Given the description of an element on the screen output the (x, y) to click on. 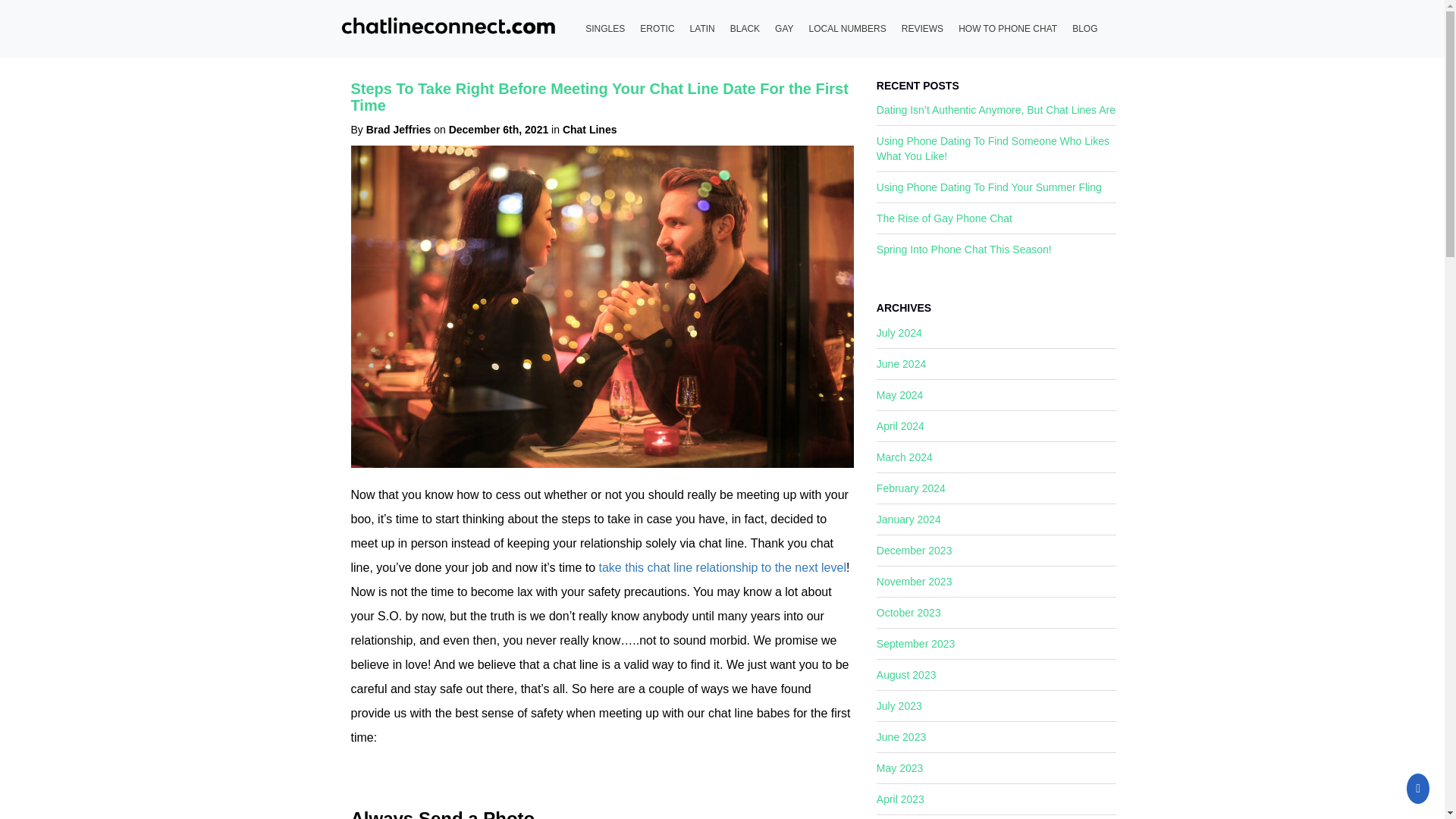
Latin (702, 28)
LATIN (702, 28)
LOCAL NUMBERS (847, 28)
EROTIC (656, 28)
Local Numbers (847, 28)
REVIEWS (921, 28)
Black (744, 28)
SINGLES (604, 28)
Gay (783, 28)
BLACK (744, 28)
GAY (783, 28)
Singles (604, 28)
Erotic (656, 28)
